Given the description of an element on the screen output the (x, y) to click on. 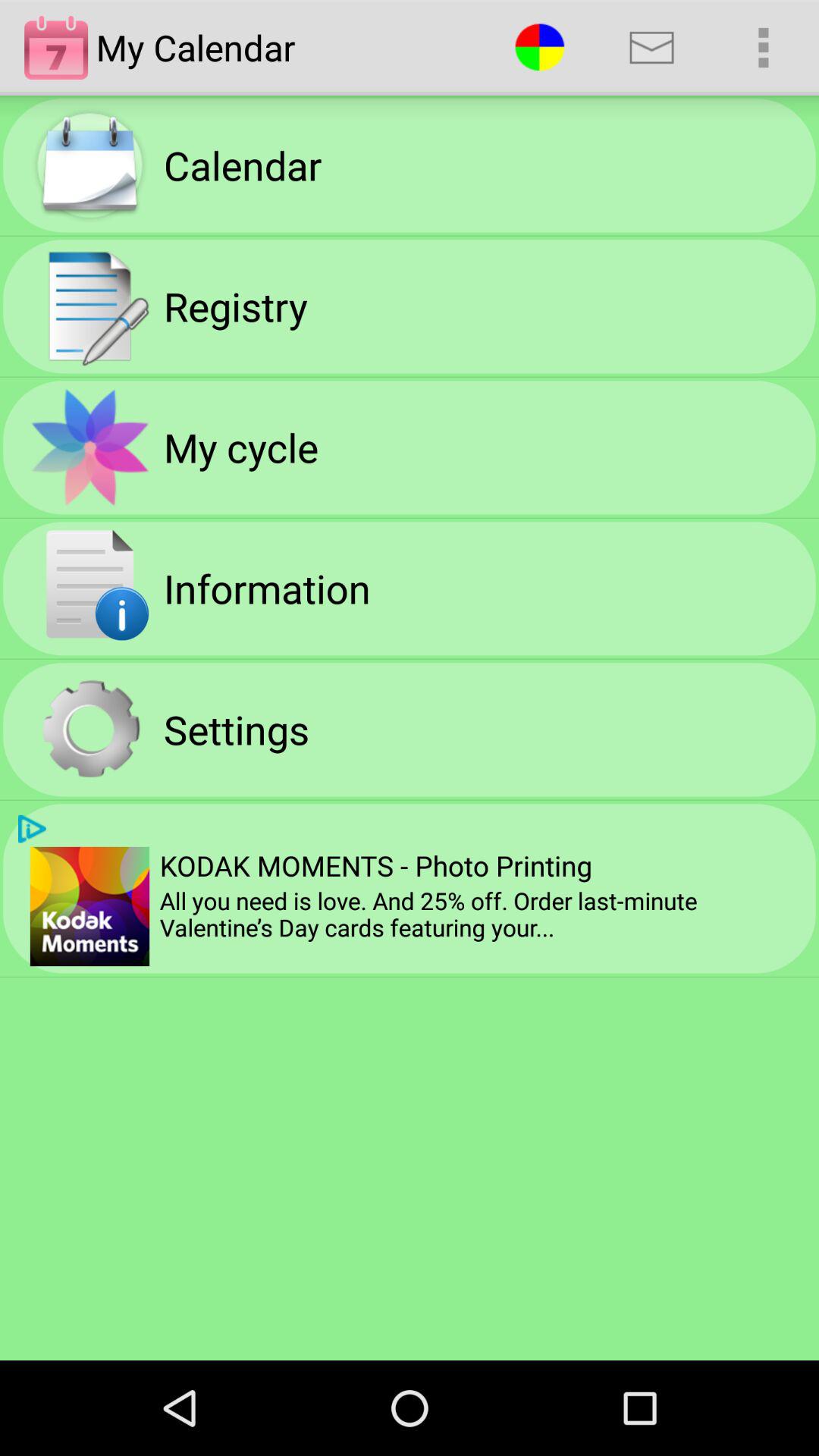
choose icon above information app (240, 446)
